Given the description of an element on the screen output the (x, y) to click on. 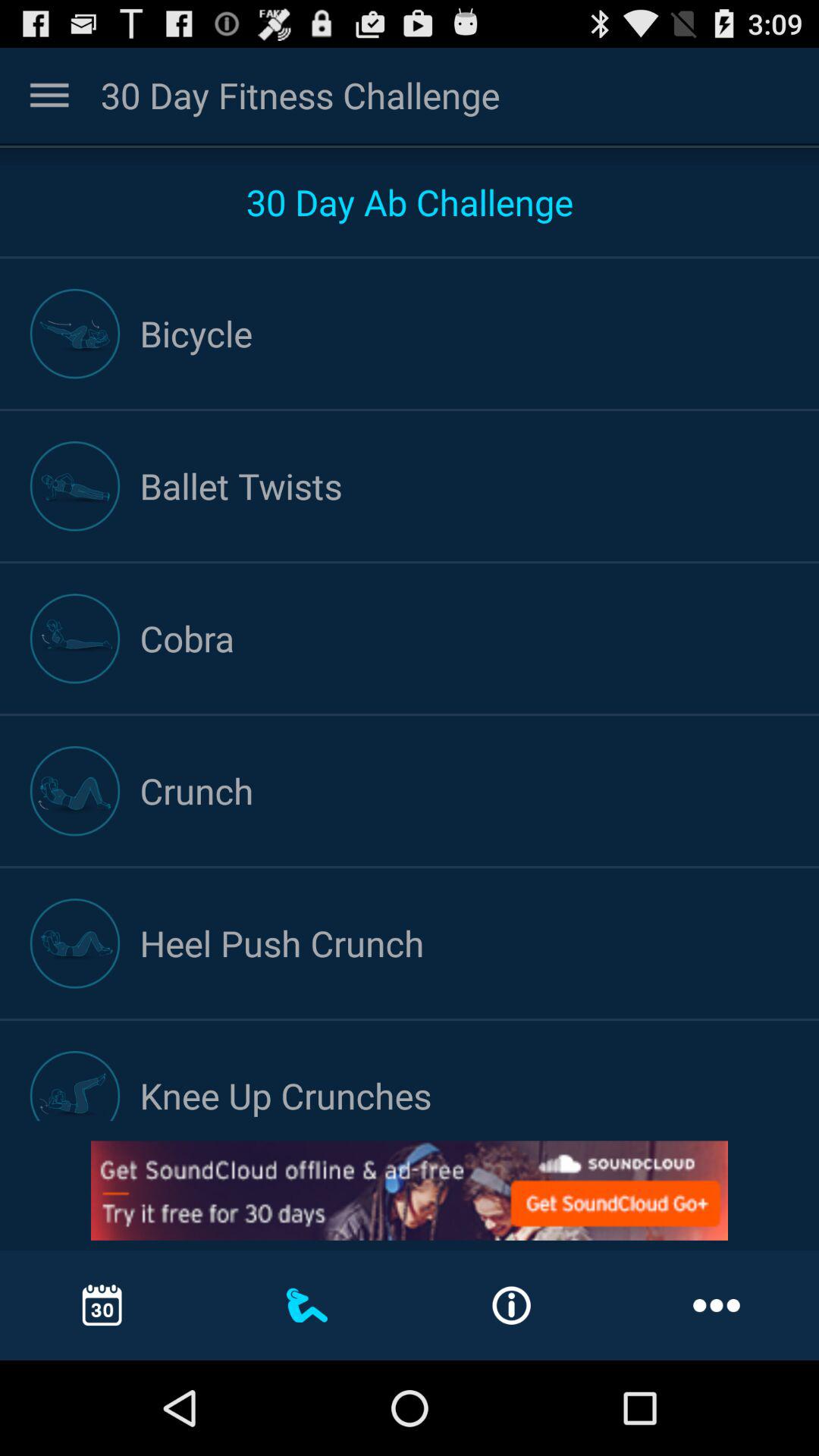
go to advertisements website (409, 1190)
